Given the description of an element on the screen output the (x, y) to click on. 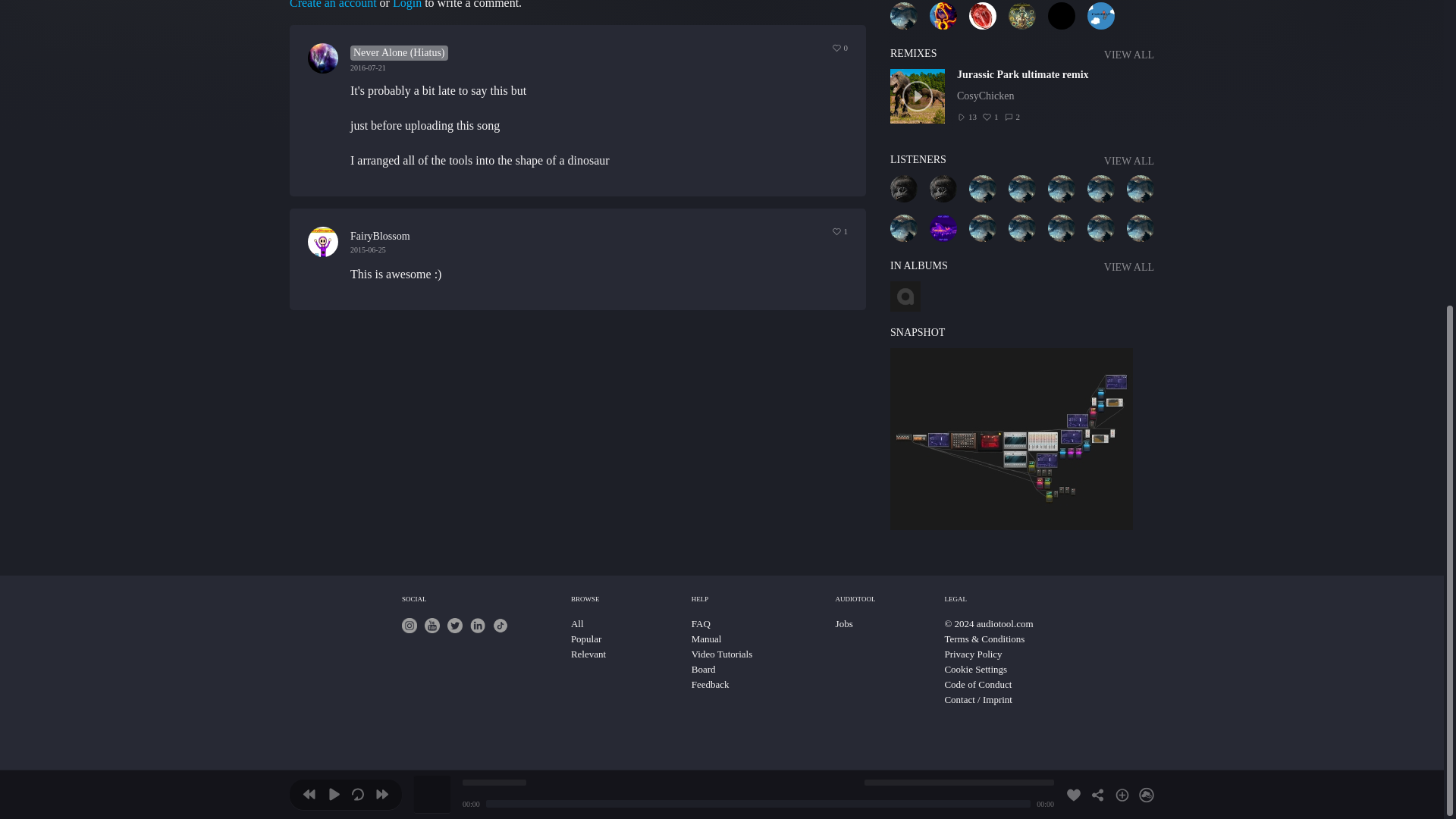
Create Account (333, 4)
0 (840, 47)
Login (407, 4)
Login (407, 4)
Trex-Jack (903, 15)
Create an account (333, 4)
